Given the description of an element on the screen output the (x, y) to click on. 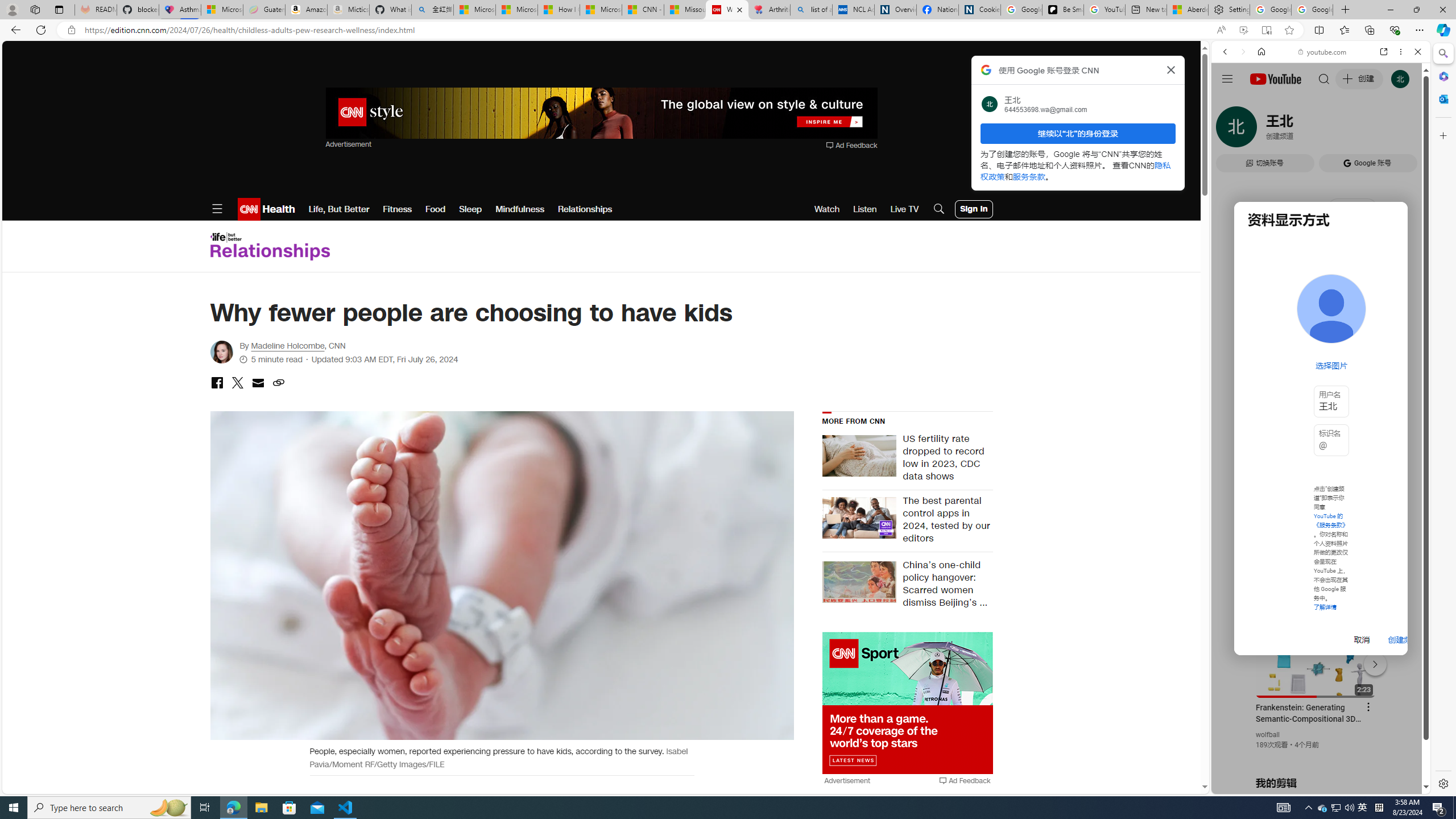
Be Smart | creating Science videos | Patreon (1062, 9)
Trailer #2 [HD] (1320, 336)
